Given the description of an element on the screen output the (x, y) to click on. 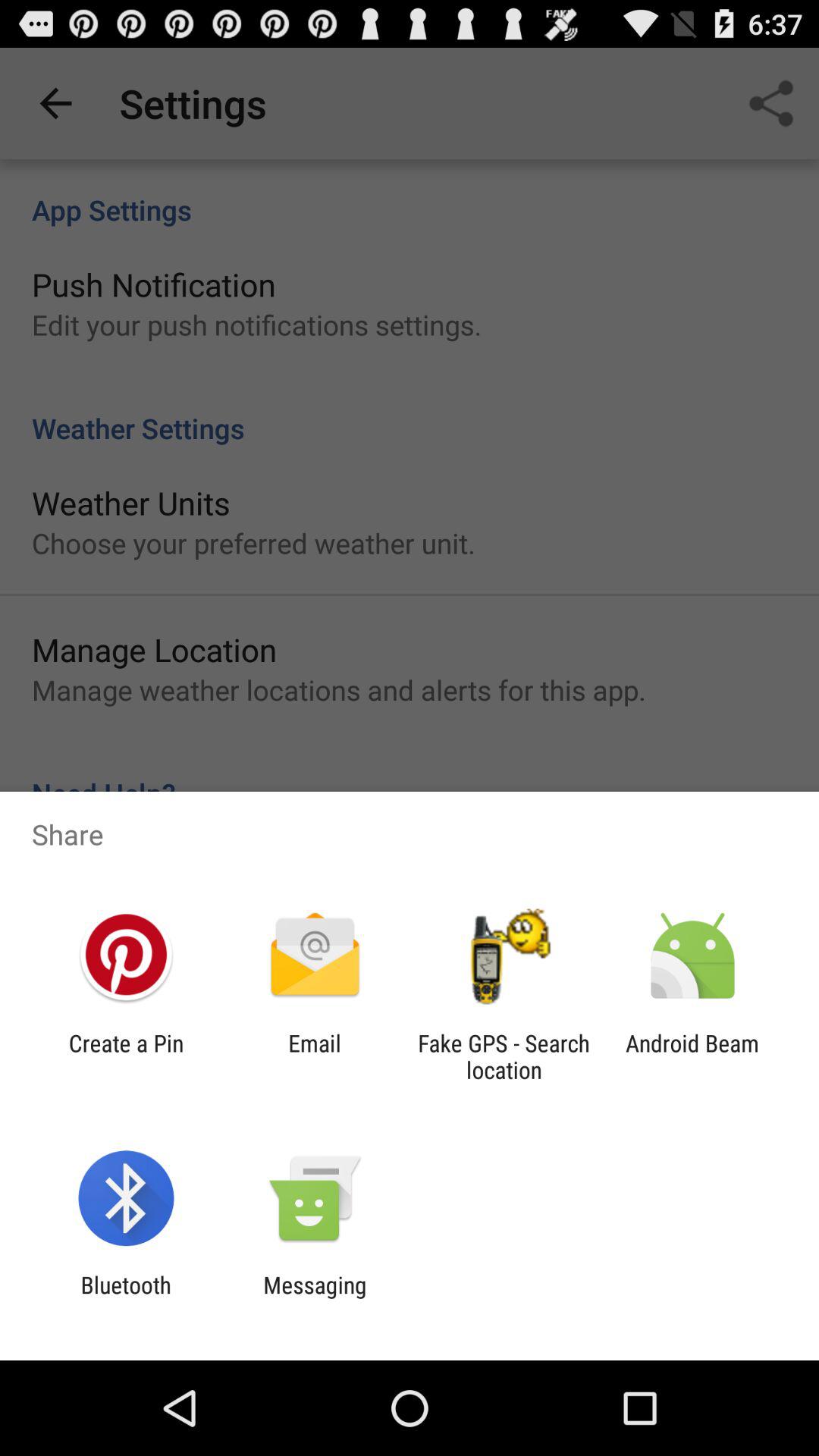
tap android beam (692, 1056)
